Given the description of an element on the screen output the (x, y) to click on. 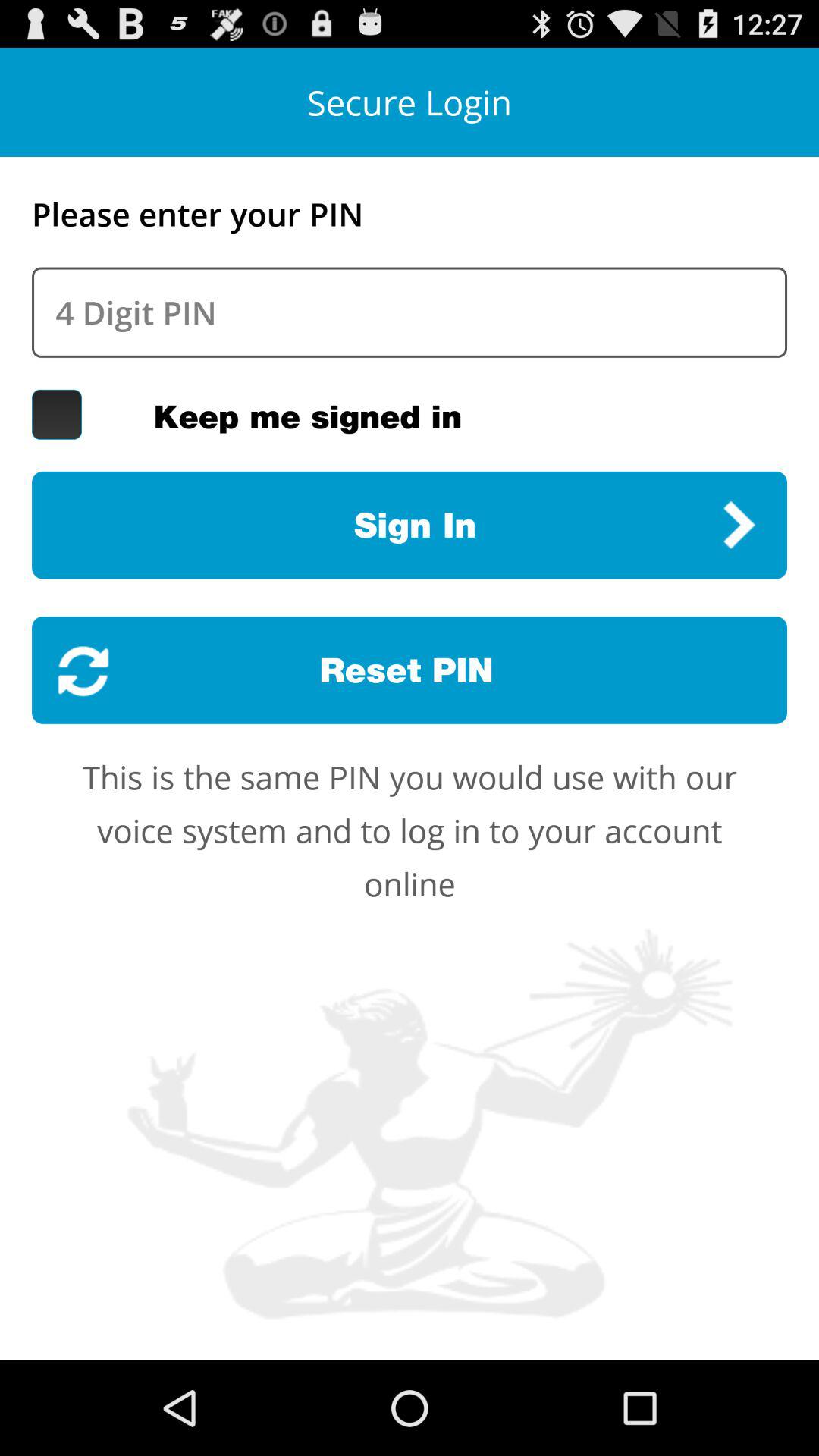
enter information (409, 312)
